Given the description of an element on the screen output the (x, y) to click on. 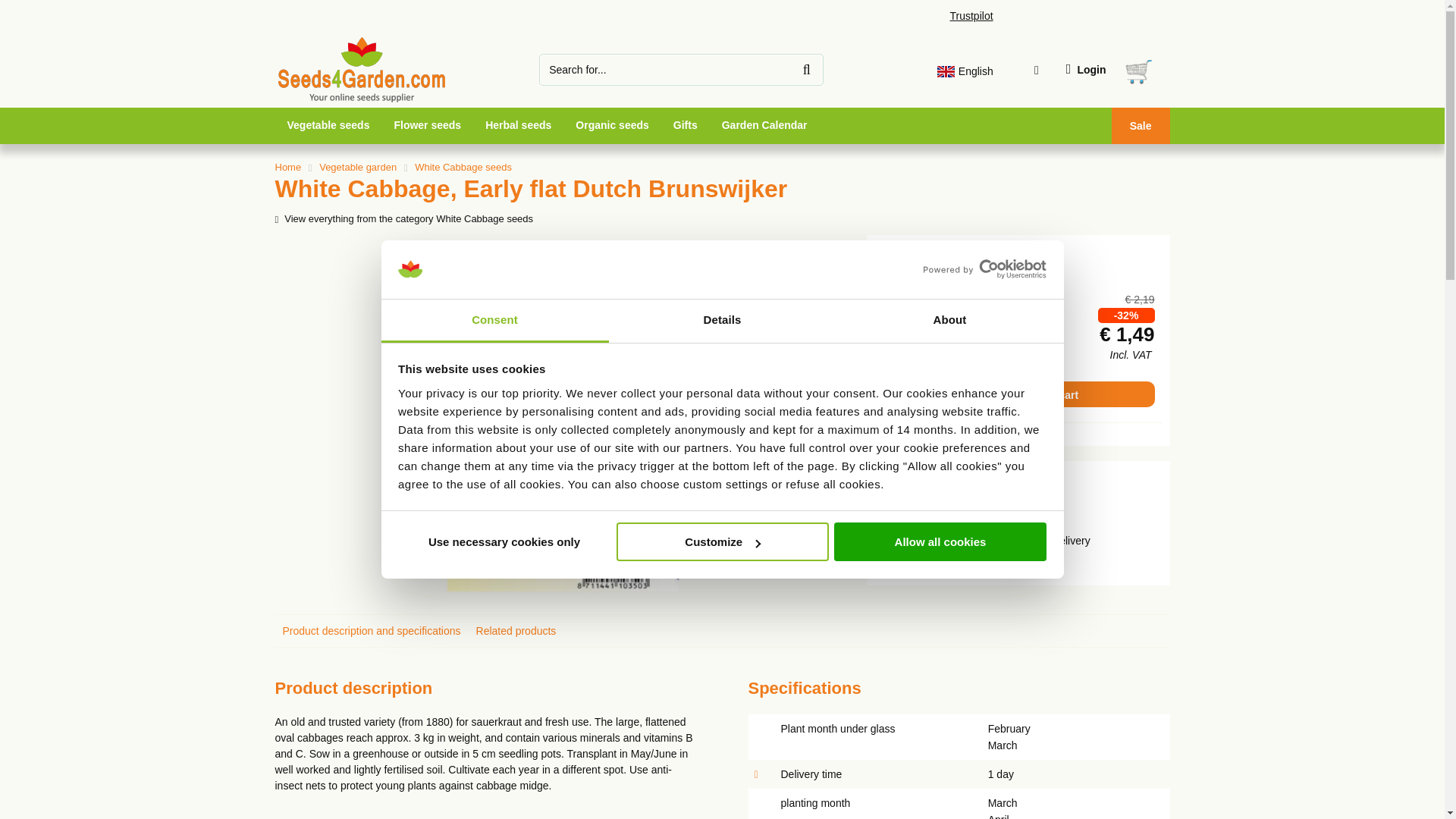
Seeds 4 Garden (360, 98)
Use necessary cookies only (503, 541)
Consent (494, 321)
1 (926, 333)
Details (721, 321)
White Cabbage seeds (403, 218)
Customize (721, 541)
Allow all cookies (940, 541)
About (948, 321)
